Given the description of an element on the screen output the (x, y) to click on. 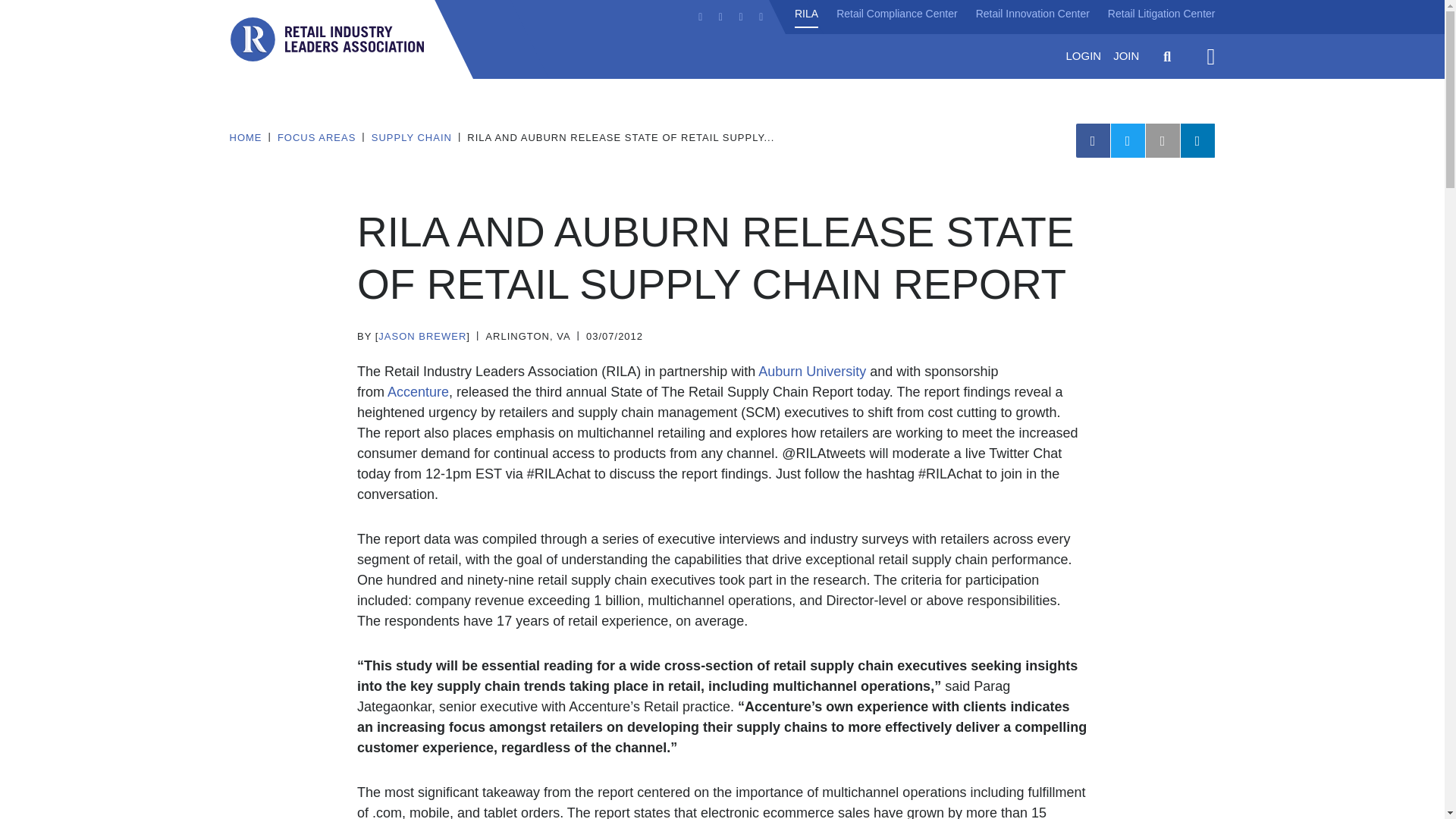
Retail Litigation Center (1161, 13)
JOIN (1125, 56)
Retail Innovation Center (1032, 13)
LOGIN (1082, 56)
Retail Compliance Center (896, 13)
